Given the description of an element on the screen output the (x, y) to click on. 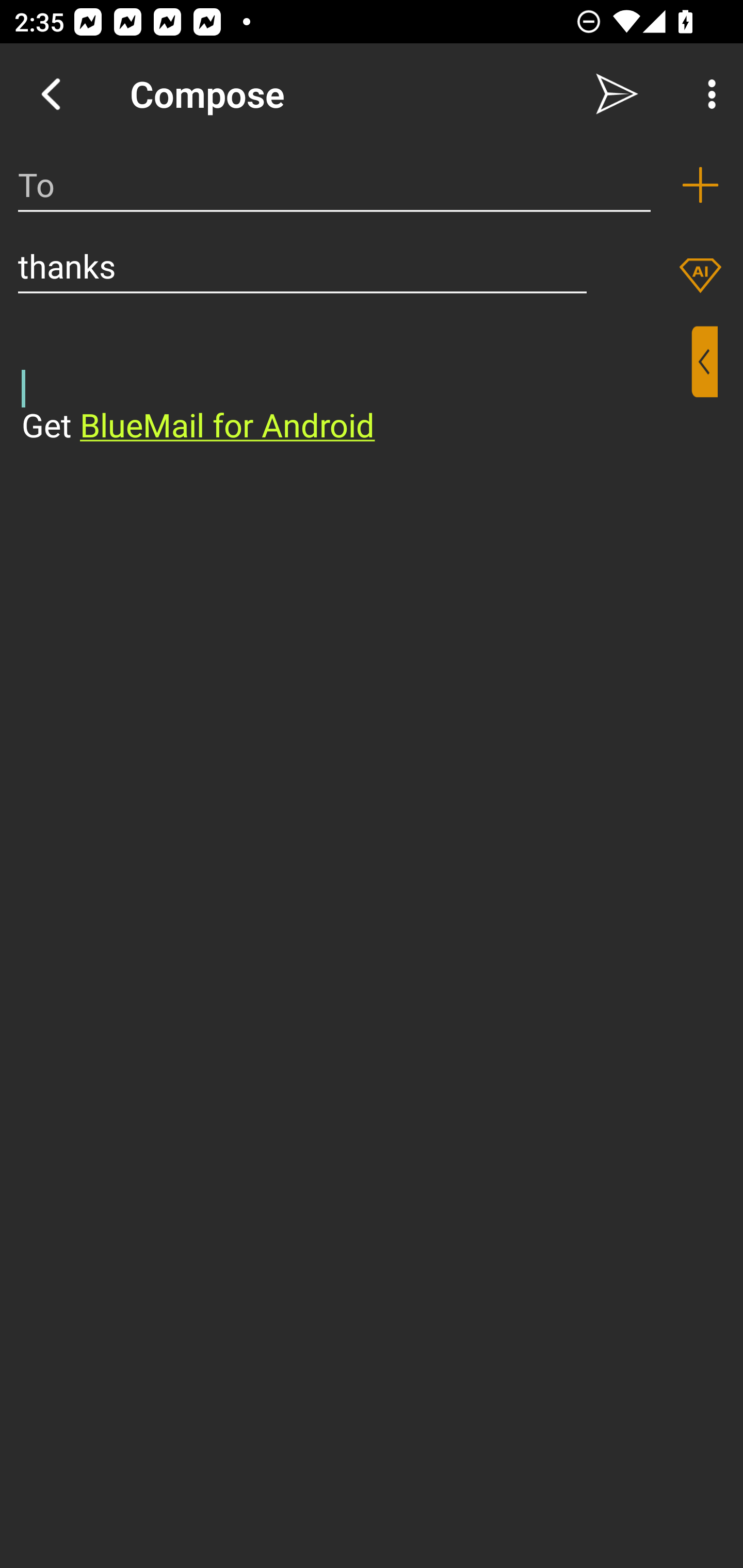
Navigate up (50, 93)
Send (616, 93)
More Options (706, 93)
To (334, 184)
Add recipient (To) (699, 184)
thanks (302, 266)


⁣Get BlueMail for Android ​ (355, 386)
